Given the description of an element on the screen output the (x, y) to click on. 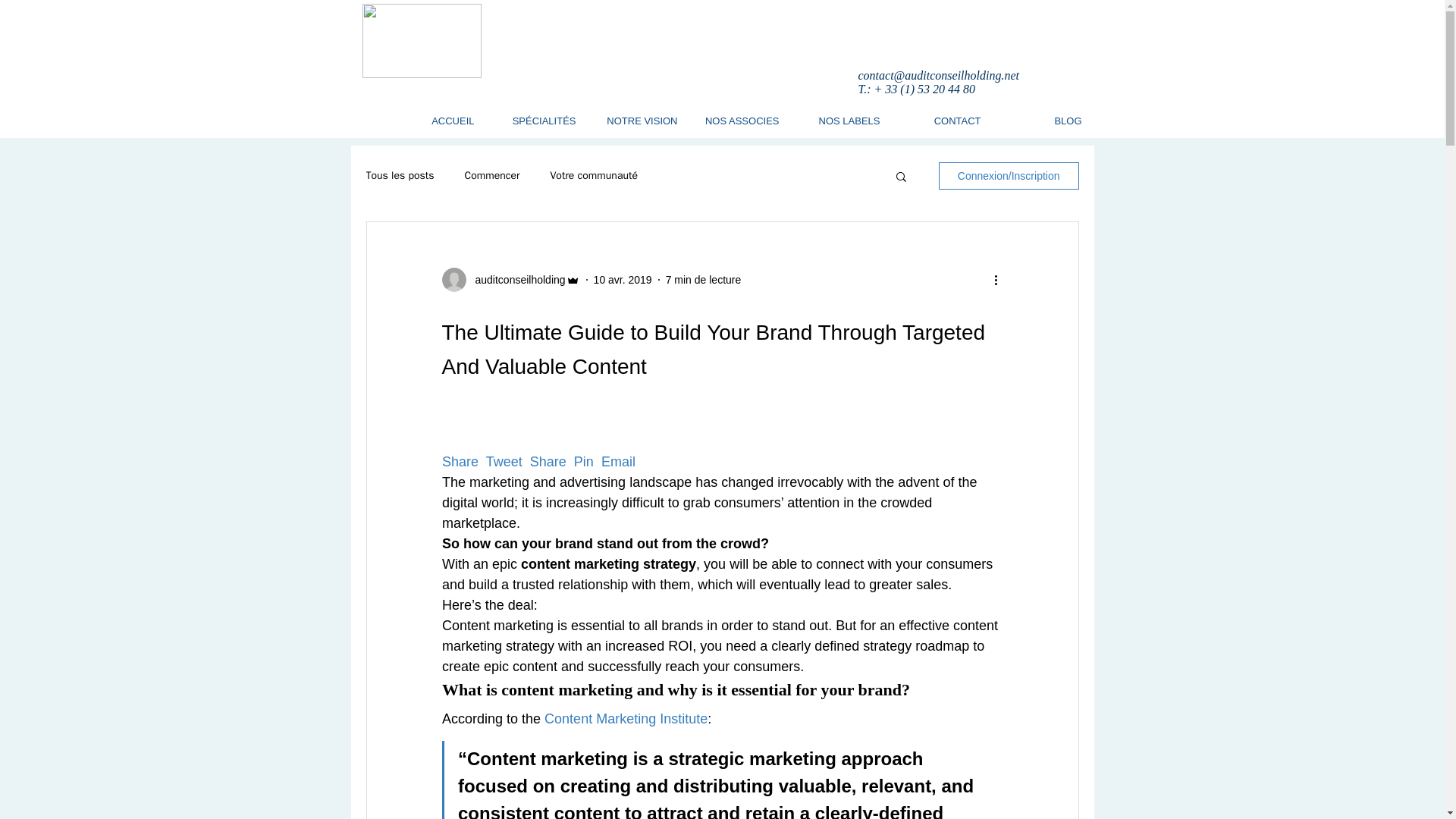
BLOG (1042, 121)
 Tweet (501, 461)
Commencer (491, 175)
Share (459, 461)
 Share (545, 461)
 Email (615, 461)
7 min de lecture (703, 278)
Tous les posts (399, 175)
NOTRE VISION (637, 121)
auditconseilholding (514, 279)
